Given the description of an element on the screen output the (x, y) to click on. 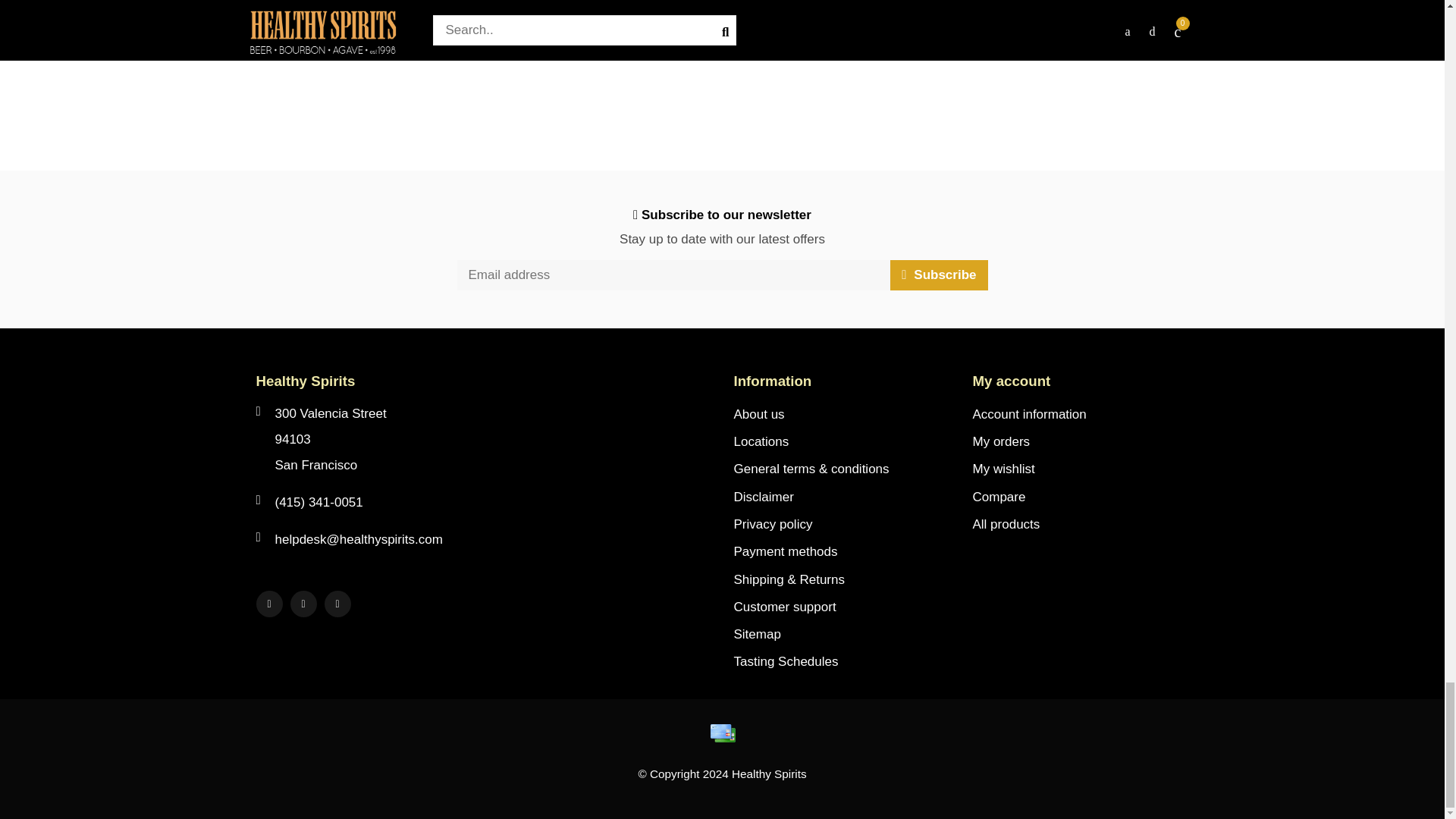
My wishlist (1002, 469)
Tasting Schedules (785, 661)
My orders (1000, 441)
Privacy policy (772, 524)
Customer support (784, 606)
Sitemap (756, 634)
About us (758, 414)
Compare (998, 497)
Disclaimer (763, 497)
Payment methods (785, 551)
Account information (1029, 414)
Locations (761, 441)
